Given the description of an element on the screen output the (x, y) to click on. 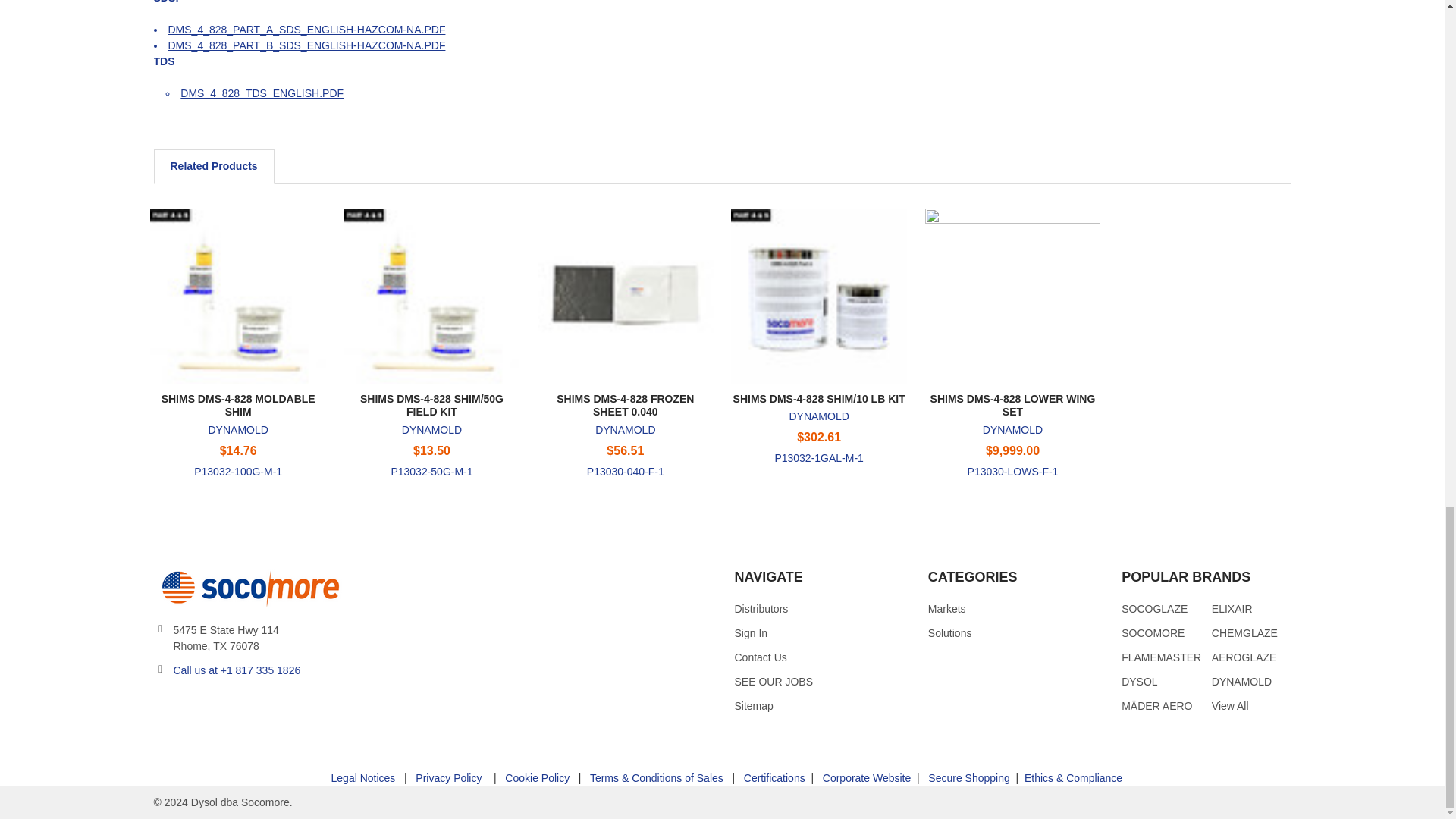
Linkedin (246, 707)
Facebook (191, 707)
SHIMS DMS-4-828 FROZEN SHEET 0.040 (625, 296)
Youtube (219, 707)
Twitter (164, 707)
SHIMS DMS-4-828 MOLDABLE SHIM (236, 296)
Dysol dba Socomore (247, 587)
